Given the description of an element on the screen output the (x, y) to click on. 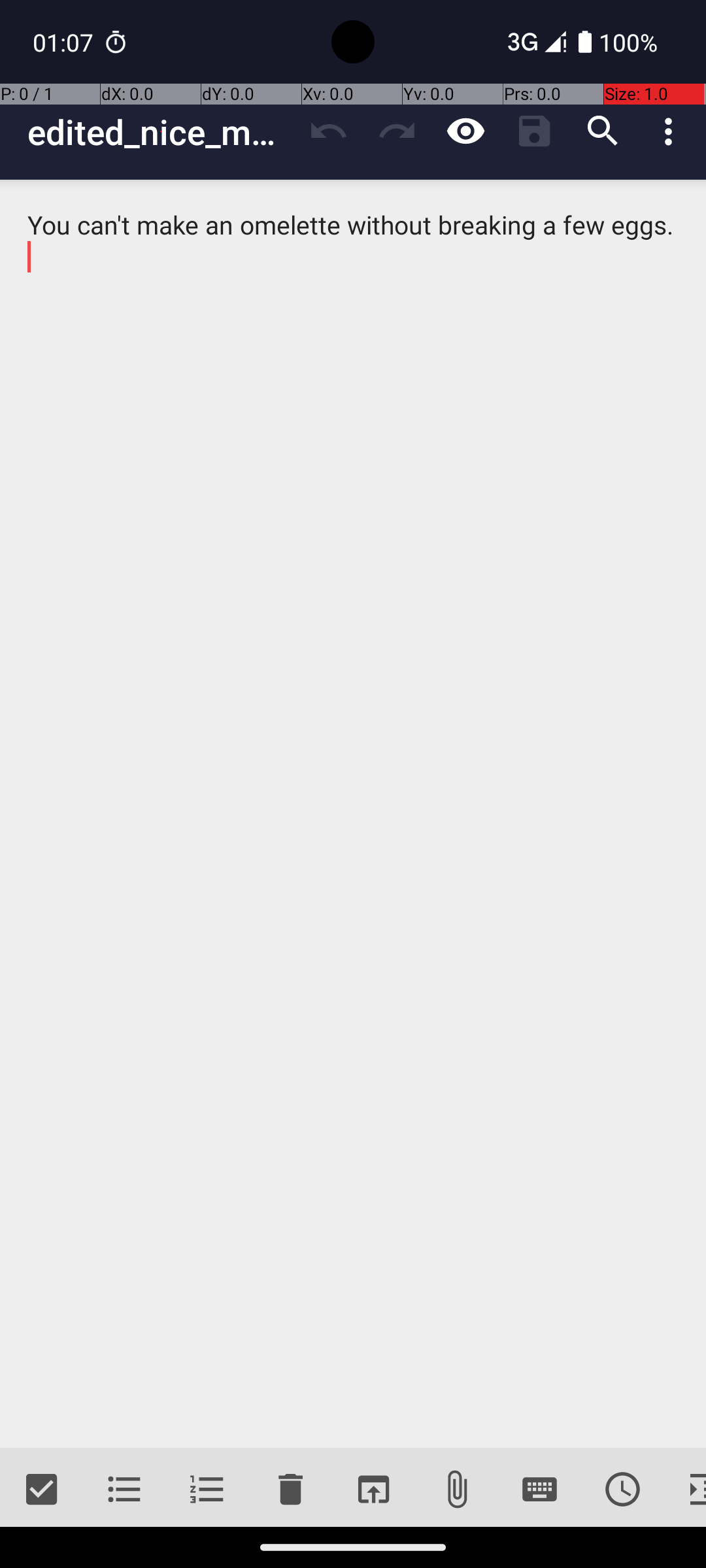
edited_nice_monkey Element type: android.widget.TextView (160, 131)
You can't make an omelette without breaking a few eggs.
 Element type: android.widget.EditText (353, 813)
Ordered list Element type: android.widget.ImageView (207, 1488)
Indent Element type: android.widget.ImageView (685, 1488)
01:07 Element type: android.widget.TextView (64, 41)
